Given the description of an element on the screen output the (x, y) to click on. 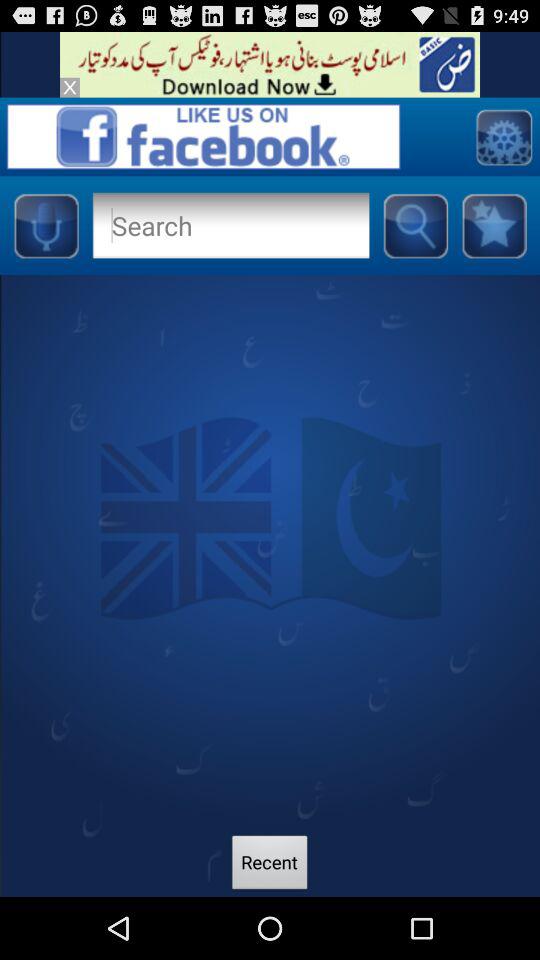
open advertisements (270, 64)
